Given the description of an element on the screen output the (x, y) to click on. 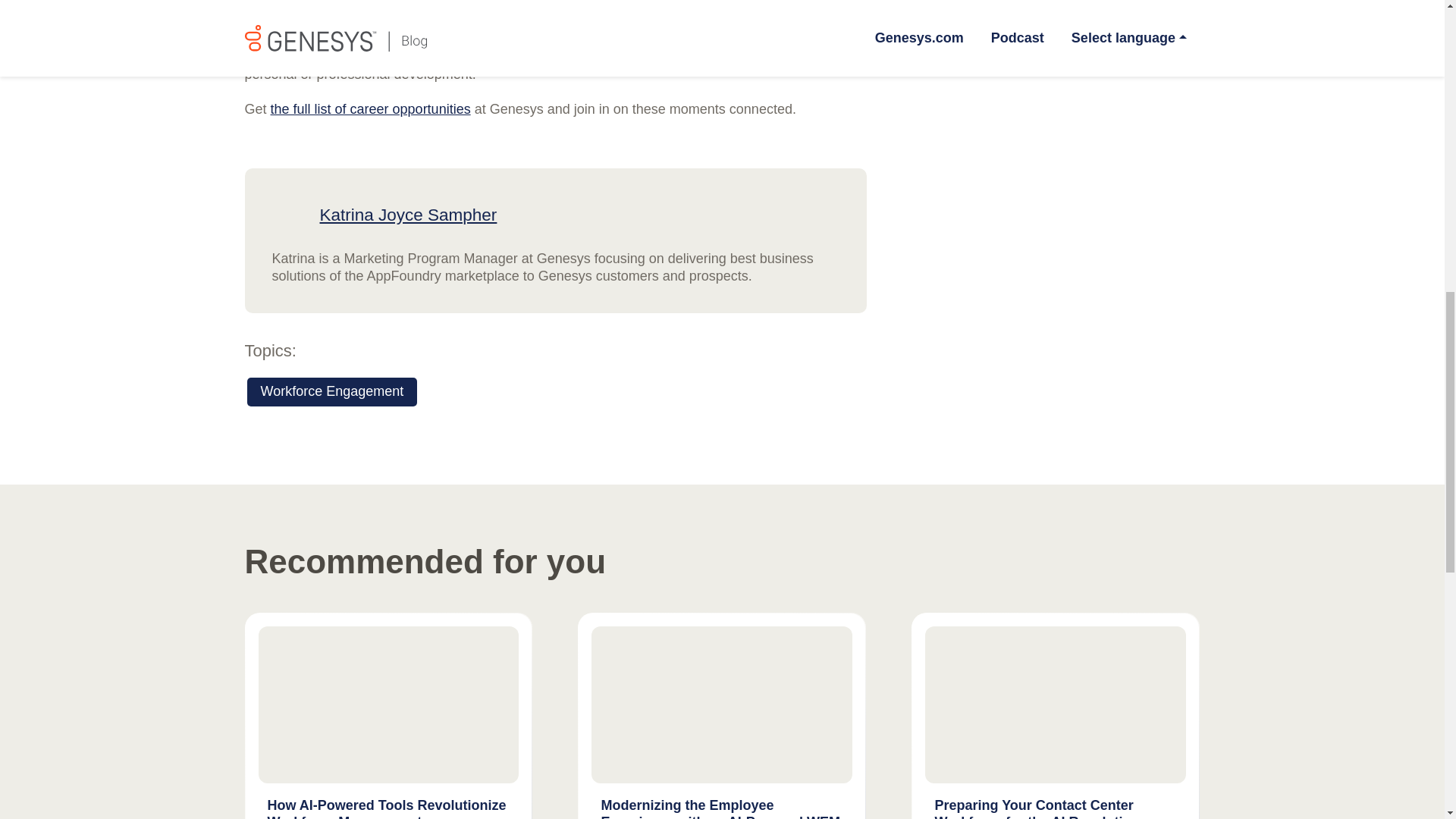
the full list of career opportunities (370, 109)
Katrina Joyce Sampher (408, 214)
Workforce Engagement (332, 391)
